Given the description of an element on the screen output the (x, y) to click on. 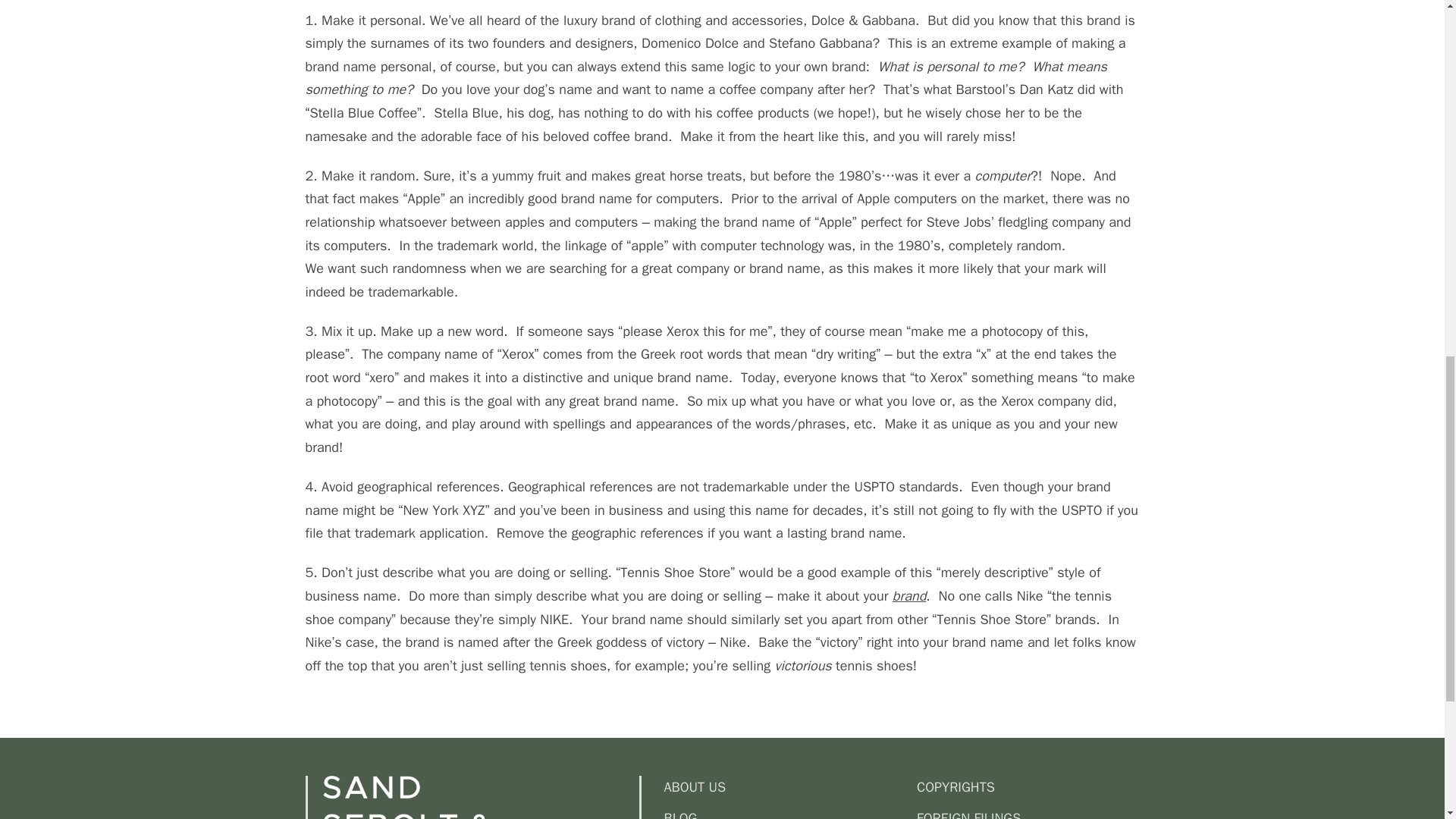
ABOUT US (782, 787)
BLOG (782, 812)
